Given the description of an element on the screen output the (x, y) to click on. 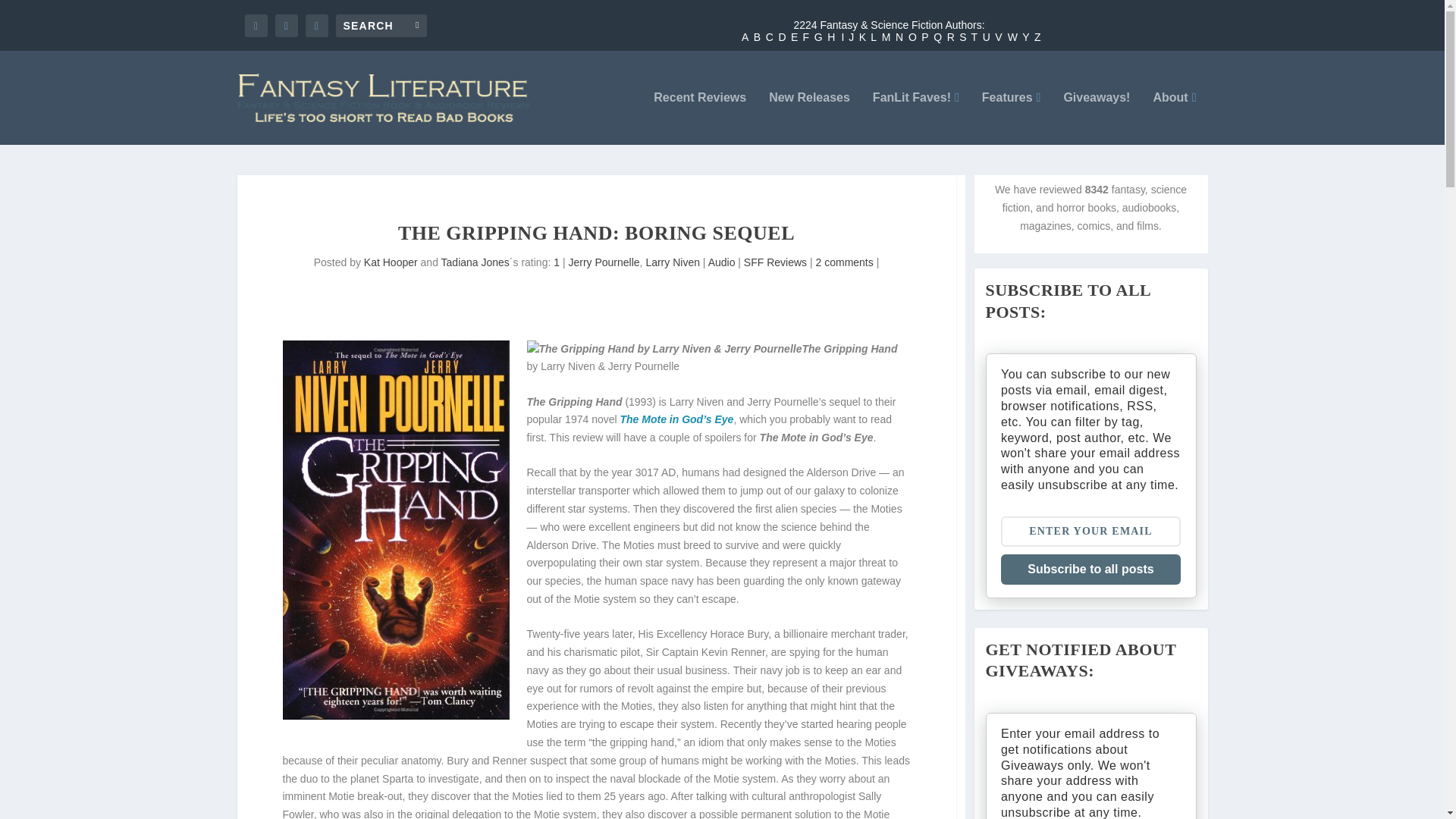
Posts by Kat Hooper (390, 262)
Posts by Tadiana Jones (475, 262)
Search for: (380, 24)
FanLit Faves! (915, 117)
